Given the description of an element on the screen output the (x, y) to click on. 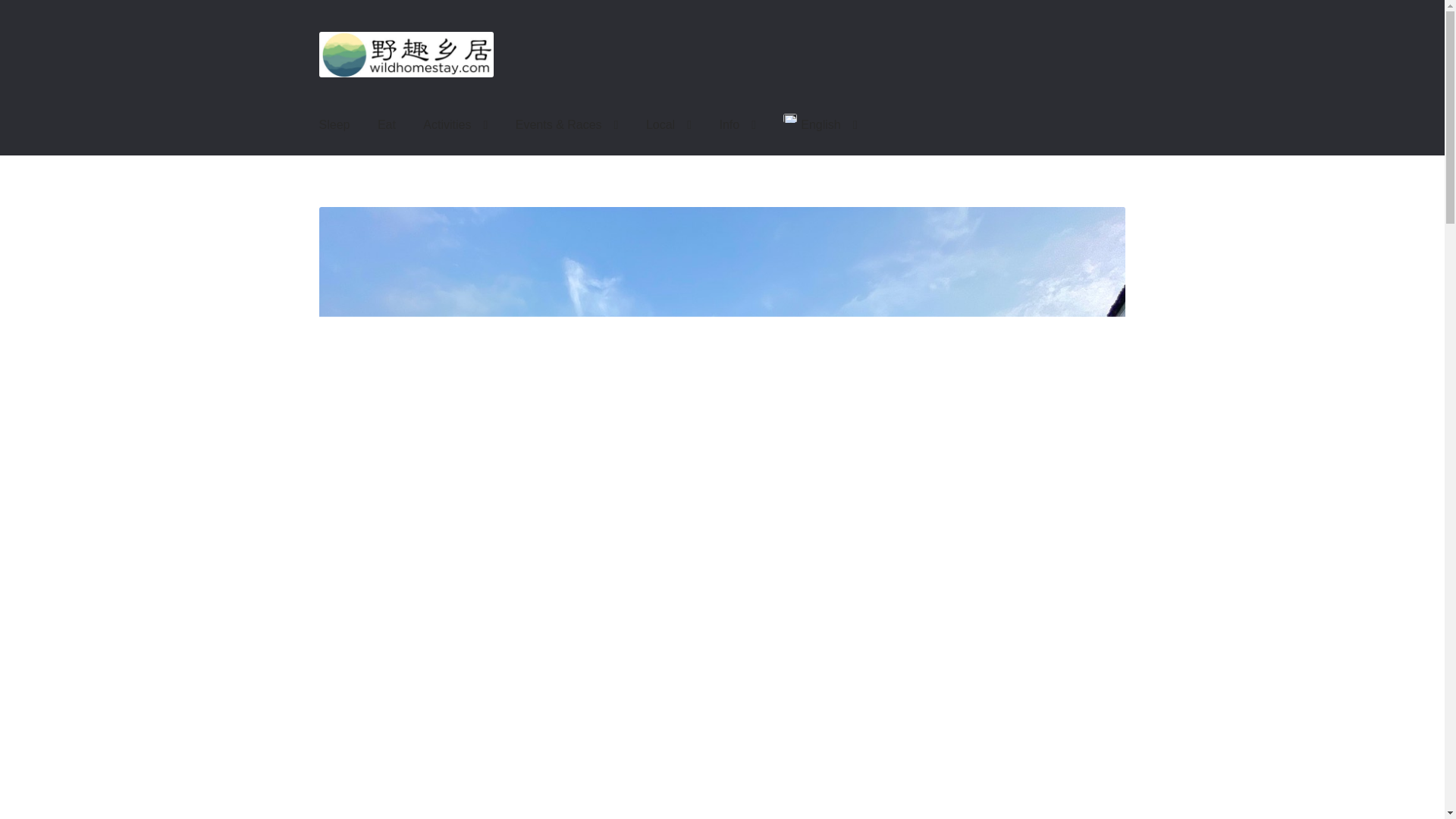
English (820, 124)
Local (668, 124)
Info (737, 124)
Sleep (334, 124)
Activities (454, 124)
